Given the description of an element on the screen output the (x, y) to click on. 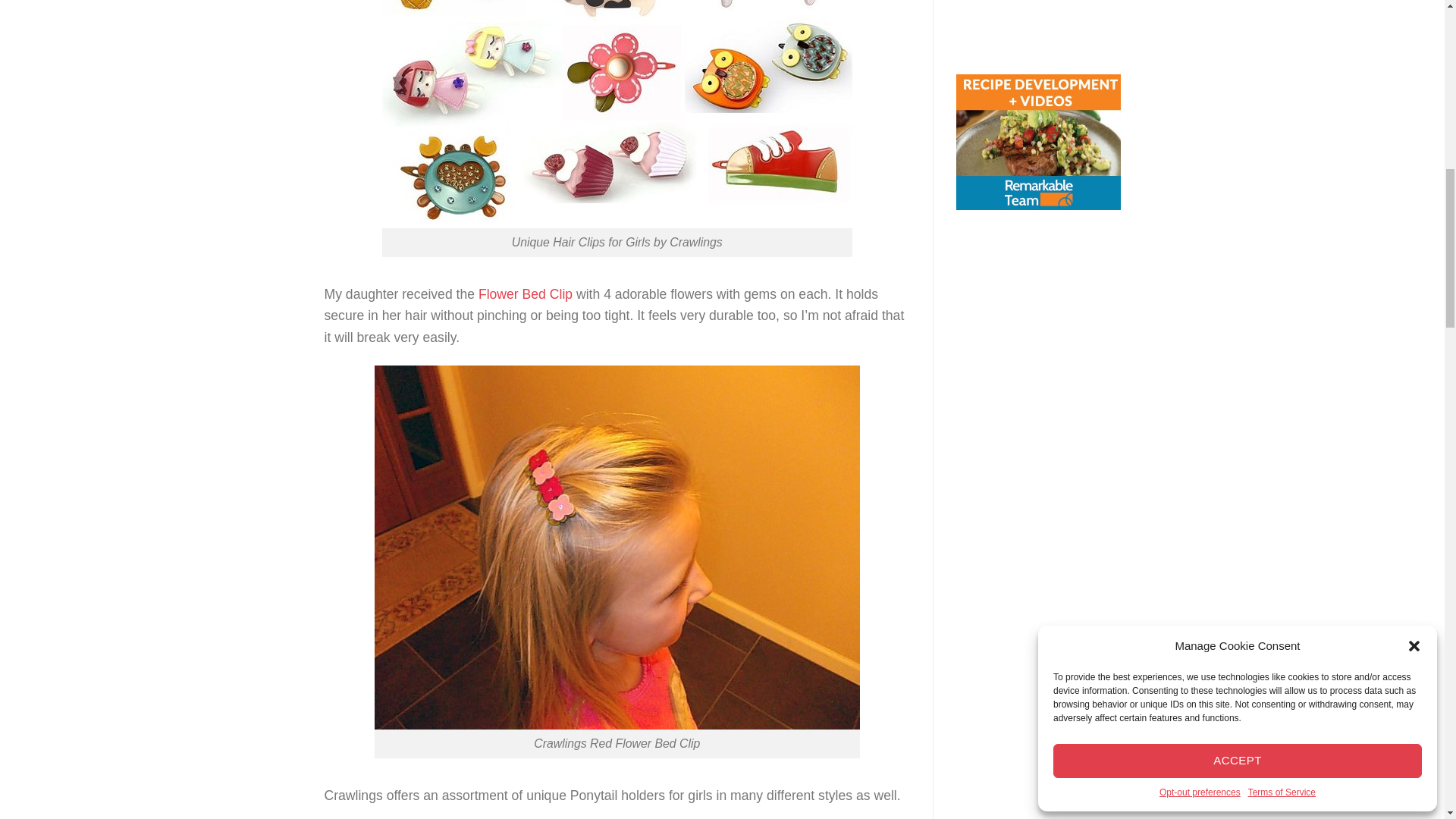
Unique Hair Clips for Girls by Crawlings (616, 114)
